Given the description of an element on the screen output the (x, y) to click on. 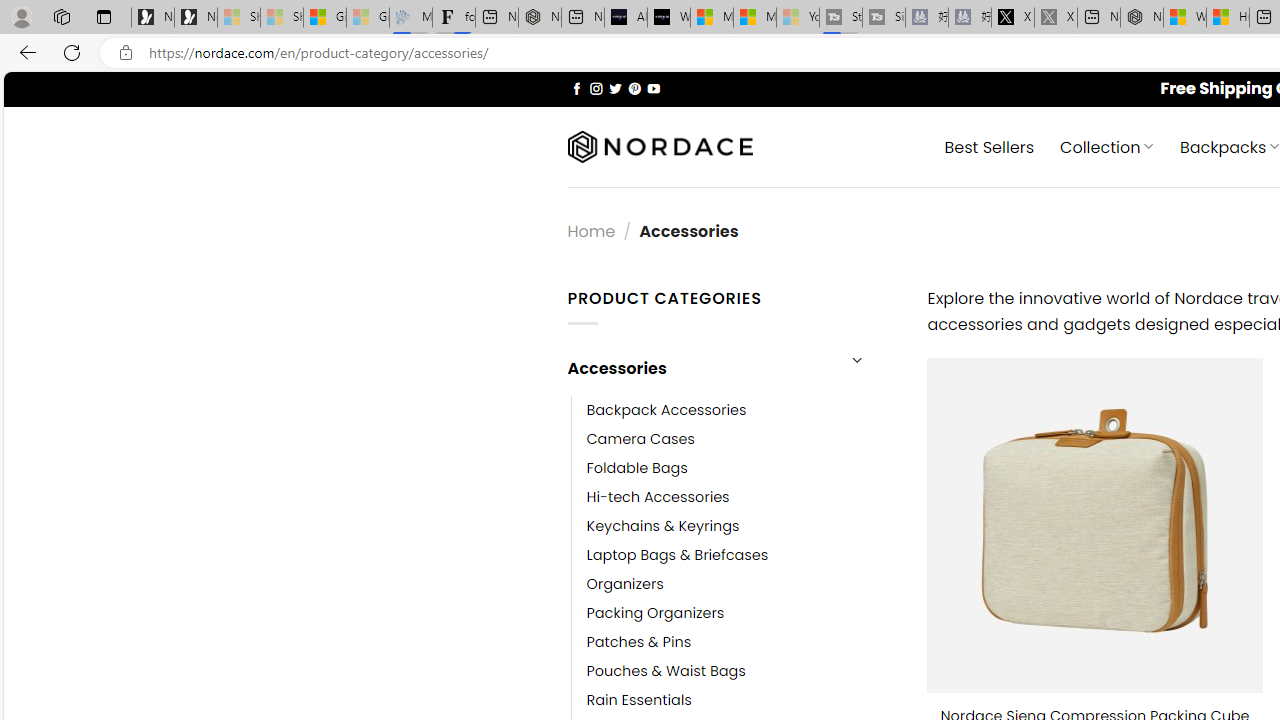
Huge shark washes ashore at New York City beach | Watch (1228, 17)
What's the best AI voice generator? - voice.ai (668, 17)
X - Sleeping (1055, 17)
Keychains & Keyrings (662, 526)
Nordace - My Account (1142, 17)
Follow on Instagram (596, 88)
Home (591, 230)
Laptop Bags & Briefcases (742, 555)
Packing Organizers (655, 614)
Foldable Bags (637, 467)
Wildlife - MSN (1184, 17)
